Given the description of an element on the screen output the (x, y) to click on. 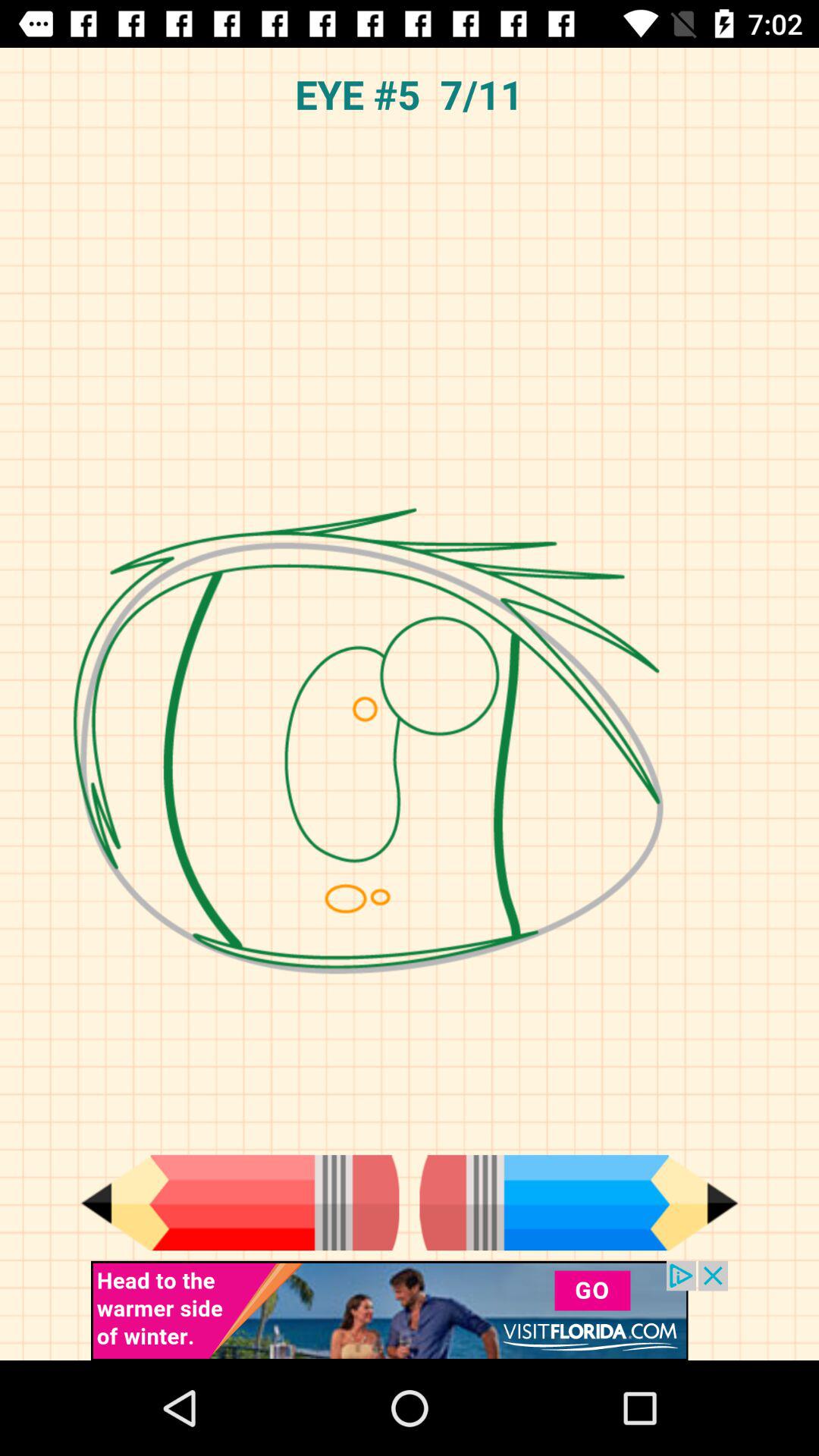
go to advert (409, 1310)
